Given the description of an element on the screen output the (x, y) to click on. 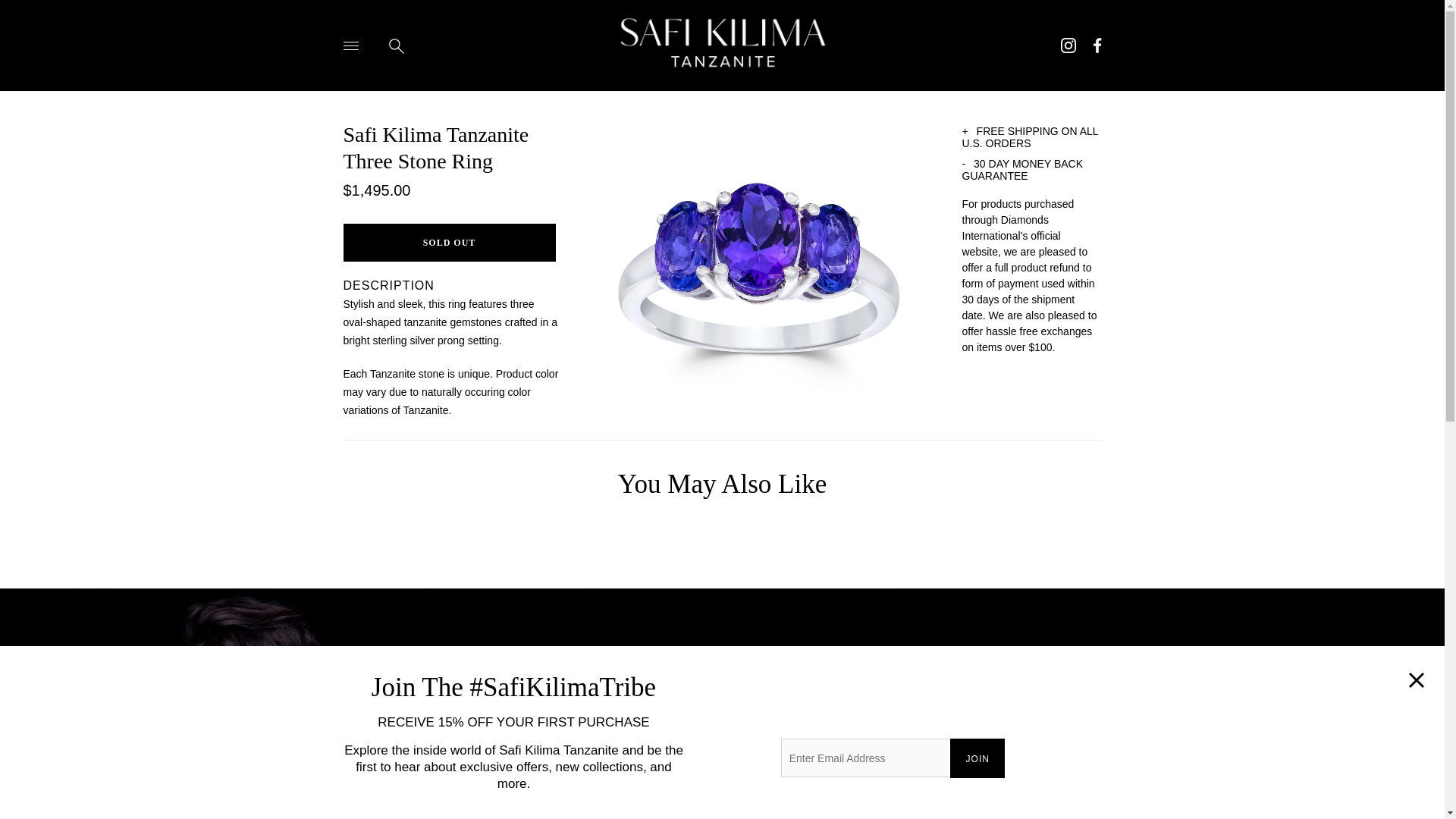
JOIN (977, 758)
SOLD OUT (448, 242)
